Given the description of an element on the screen output the (x, y) to click on. 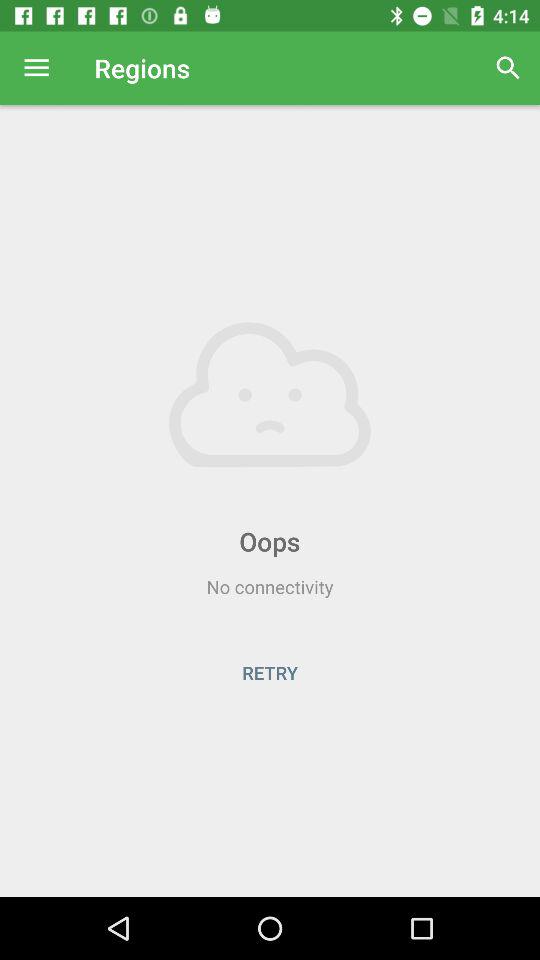
click the item next to regions icon (36, 68)
